Given the description of an element on the screen output the (x, y) to click on. 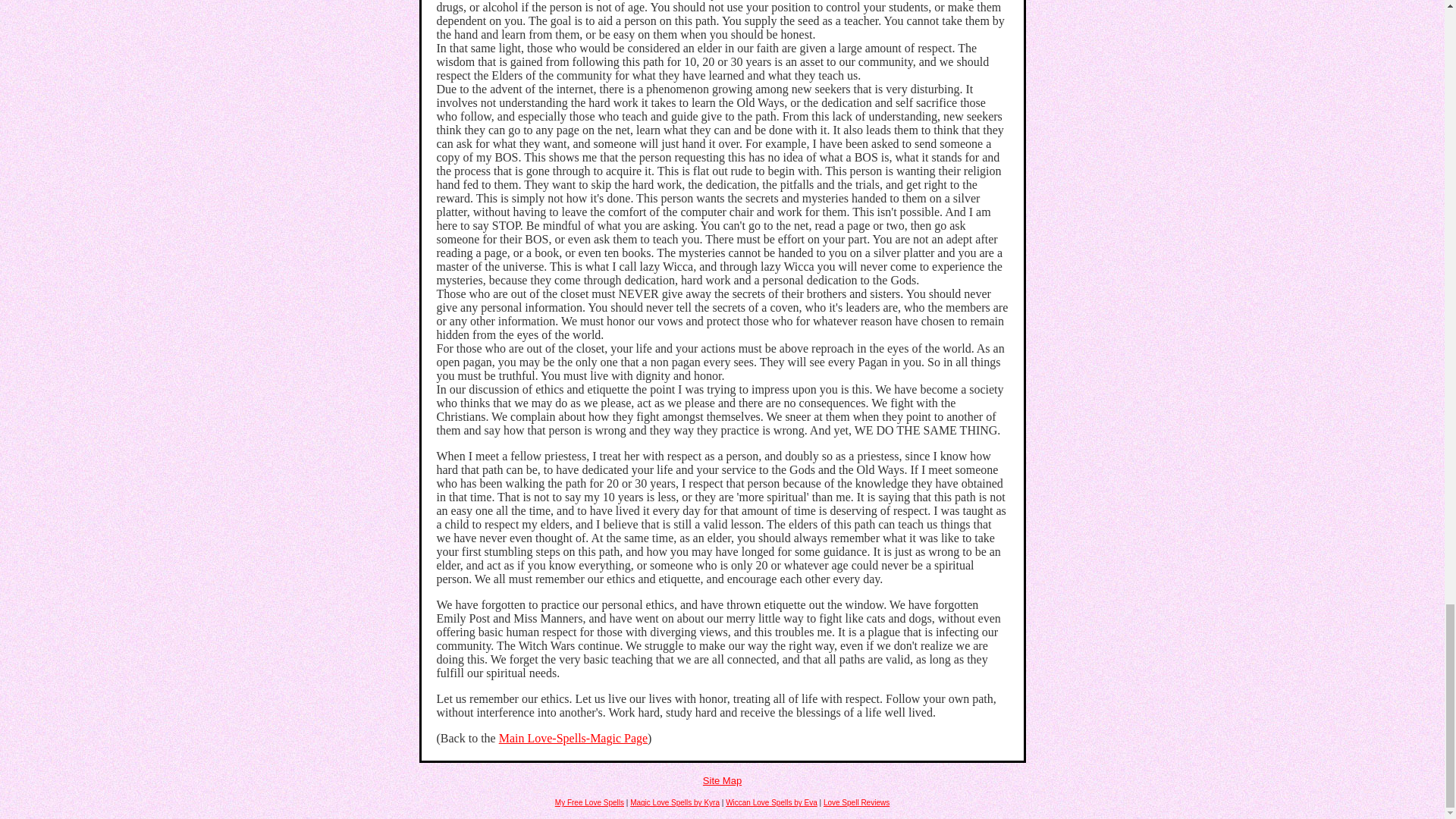
Magic Love Spells by Kyra (674, 802)
My Free Love Spells (589, 802)
Main Love-Spells-Magic Page (573, 738)
Love Spell Reviews (856, 802)
Wiccan Love Spells by Eva (770, 802)
Site Map (722, 779)
